Given the description of an element on the screen output the (x, y) to click on. 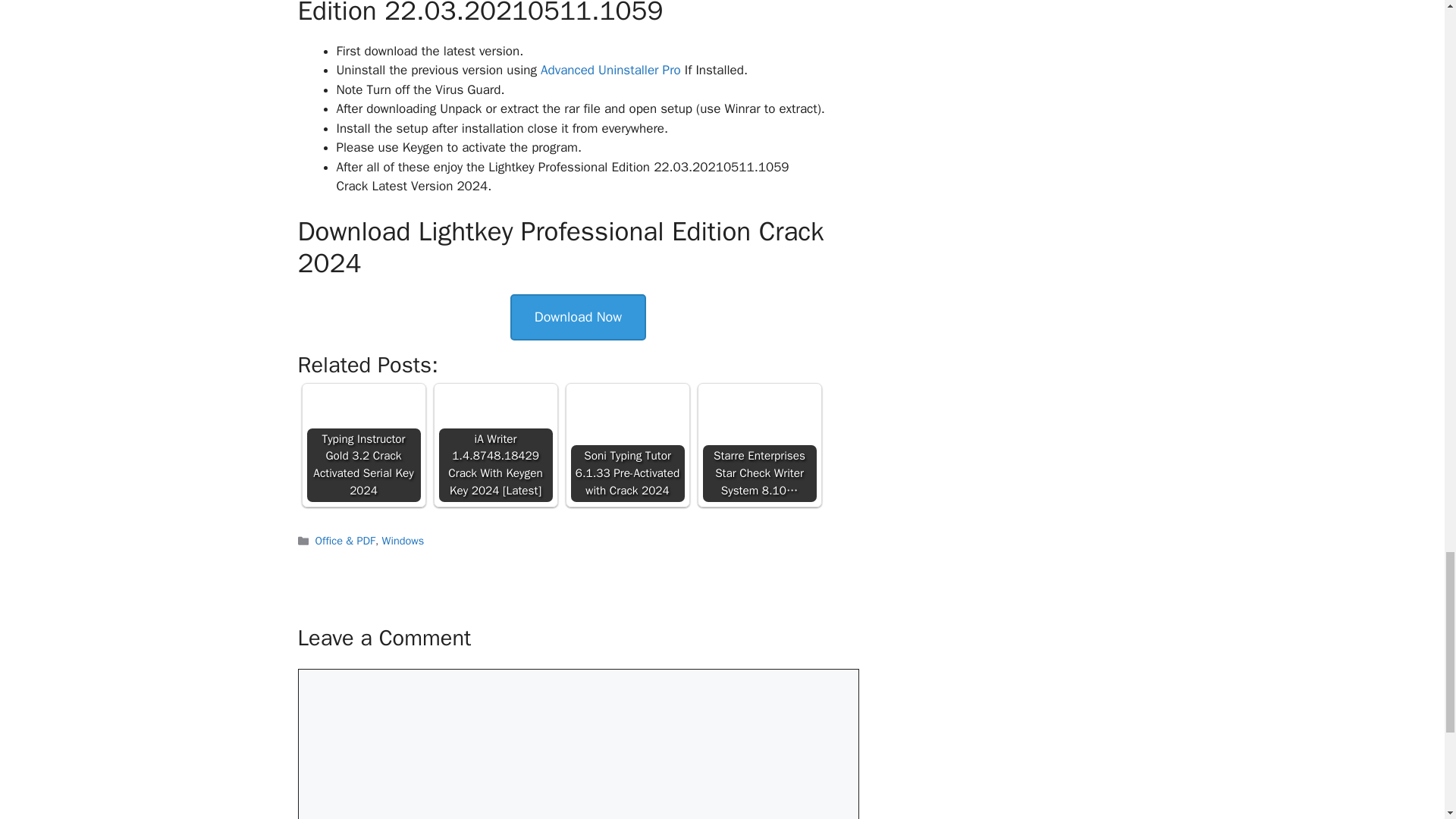
Download Now (578, 317)
Advanced Uninstaller Pro (610, 69)
Typing Instructor Gold 3.2 Crack Activated Serial Key 2024 (362, 445)
